Given the description of an element on the screen output the (x, y) to click on. 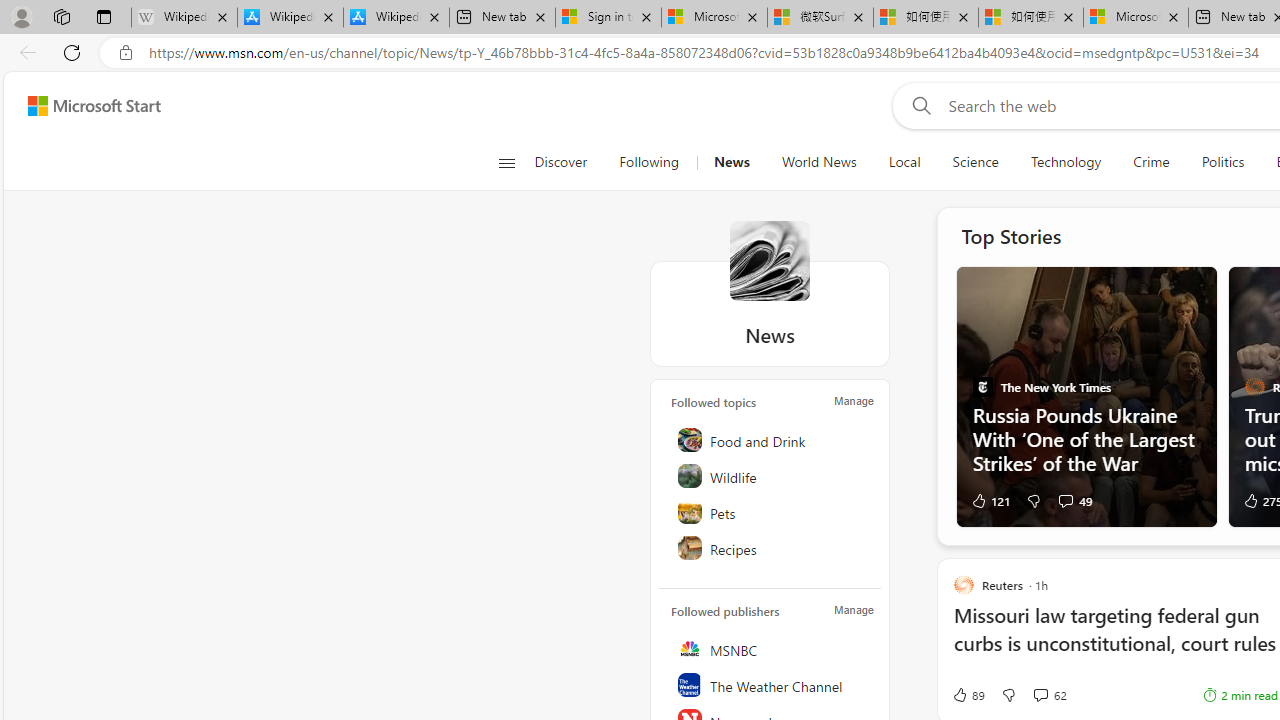
Microsoft Services Agreement (713, 17)
World News (818, 162)
Sheltering in a metro station in Kyiv, Ukraine, on Monday. (1086, 396)
View comments 62 Comment (1040, 694)
Wildlife (771, 475)
The Weather Channel (771, 684)
Following (649, 162)
Technology (1066, 162)
World News (818, 162)
Open navigation menu (506, 162)
Dislike (1008, 695)
